Given the description of an element on the screen output the (x, y) to click on. 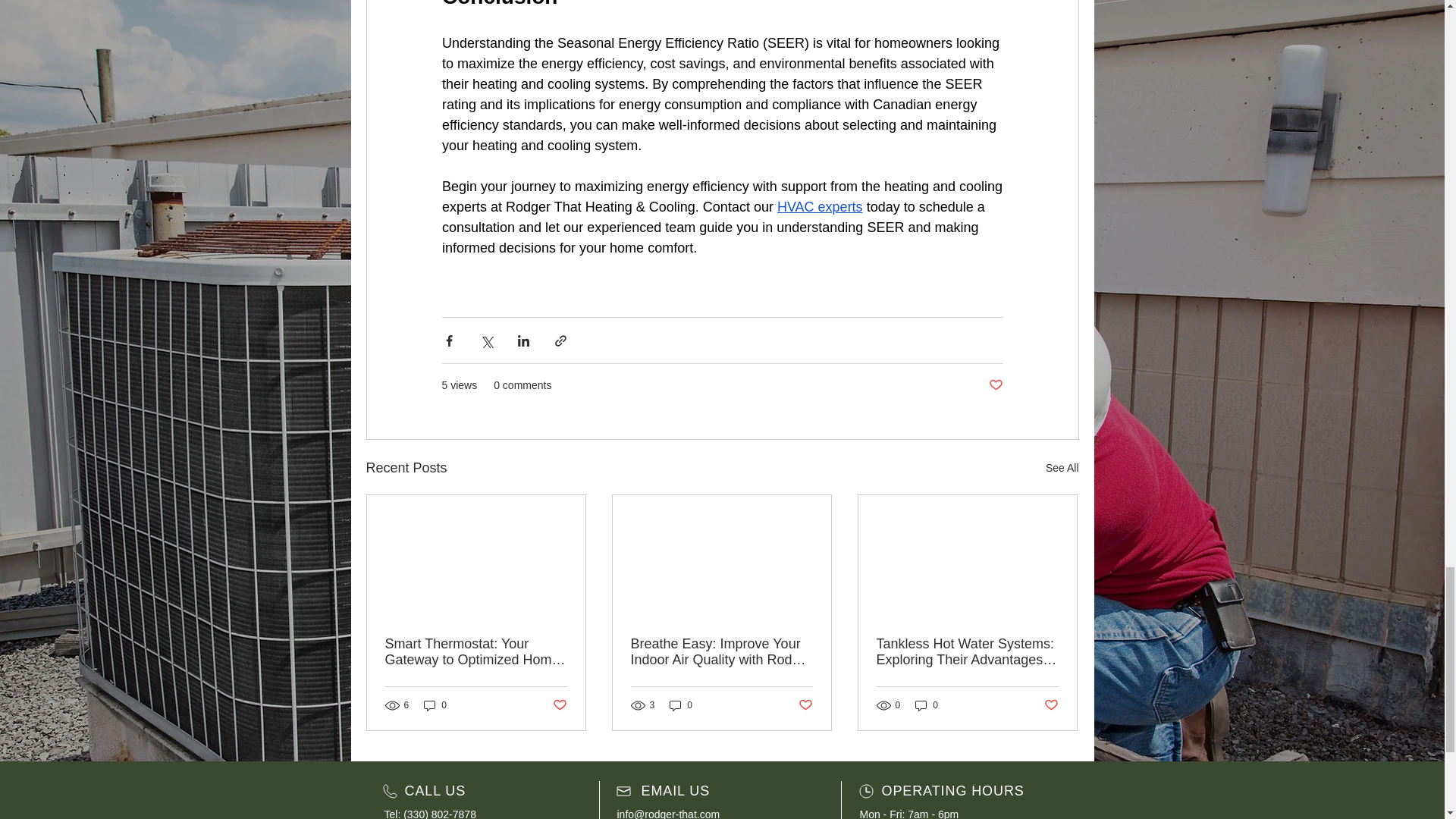
0 (435, 704)
HVAC experts (818, 206)
0 (926, 704)
0 (681, 704)
See All (1061, 468)
Post not marked as liked (995, 385)
Post not marked as liked (558, 705)
Post not marked as liked (1050, 705)
Post not marked as liked (804, 705)
